Given the description of an element on the screen output the (x, y) to click on. 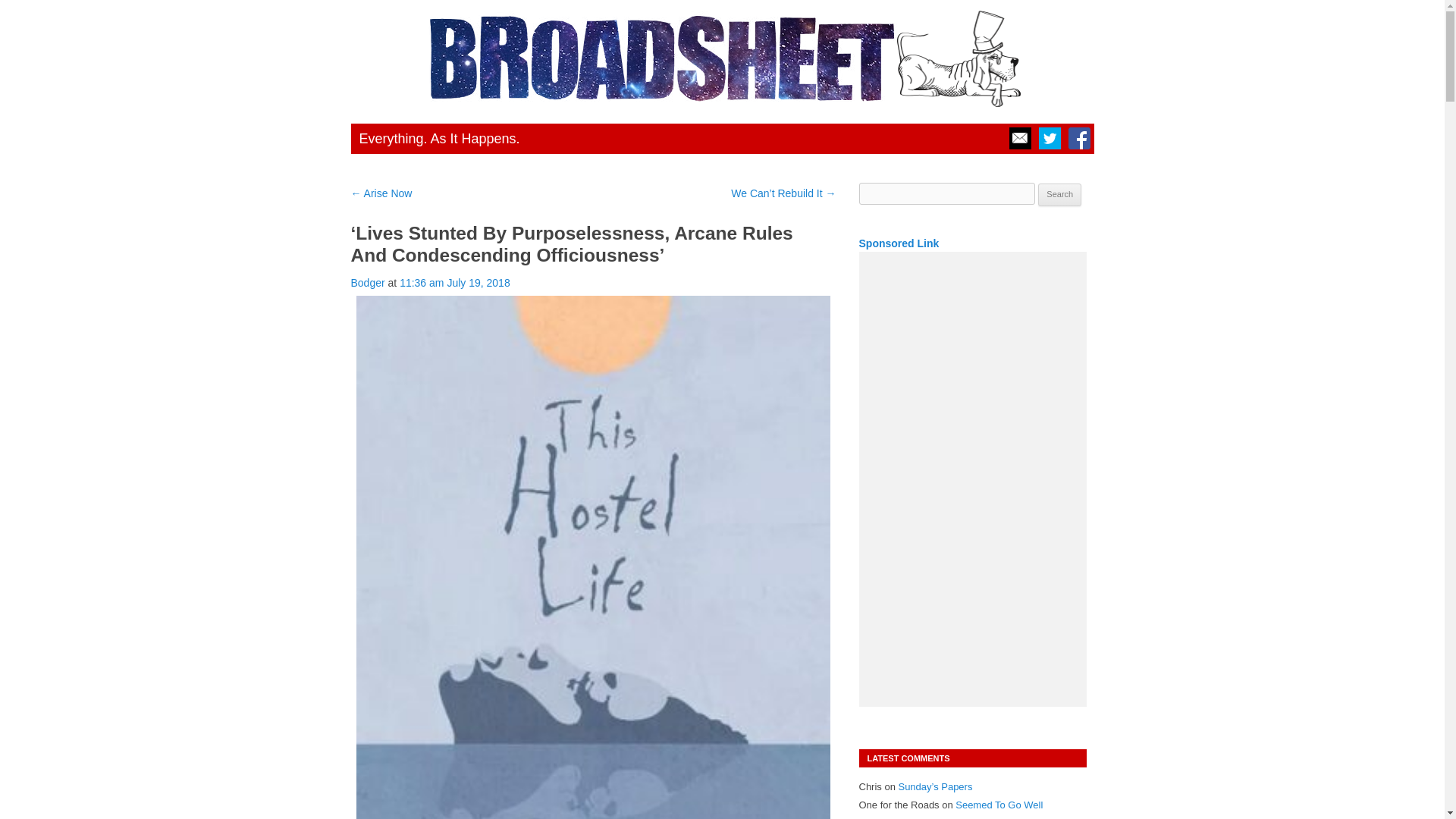
Bodger (367, 282)
View all posts by Bodger (367, 282)
11:36 am (454, 282)
11:36 am July 19, 2018 (454, 282)
